Given the description of an element on the screen output the (x, y) to click on. 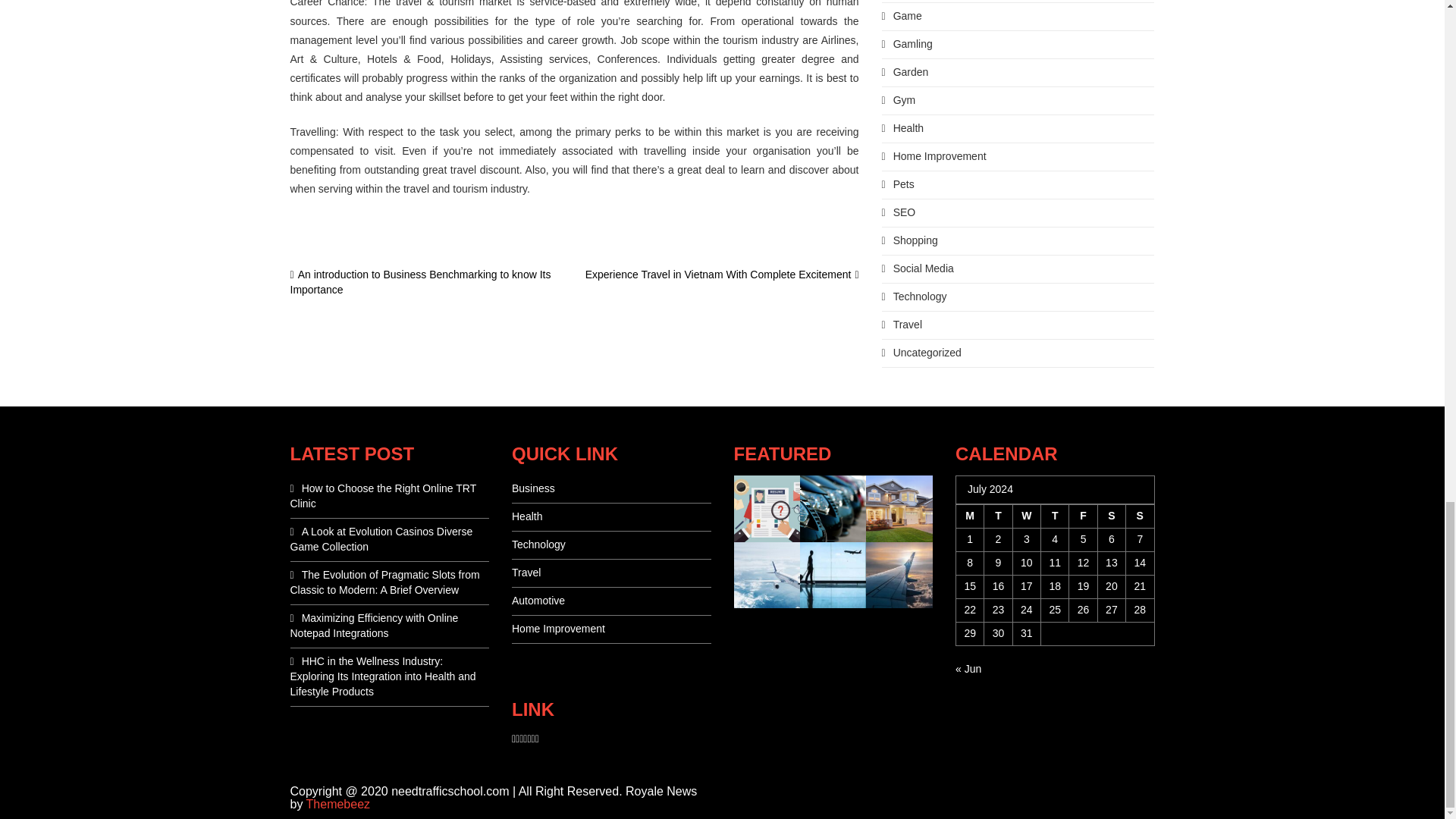
Saturday (1111, 516)
Sunday (1139, 516)
Monday (969, 516)
Thursday (1054, 516)
Experience Travel in Vietnam With Complete Excitement (722, 274)
Tuesday (997, 516)
Wednesday (1026, 516)
Friday (1082, 516)
